Given the description of an element on the screen output the (x, y) to click on. 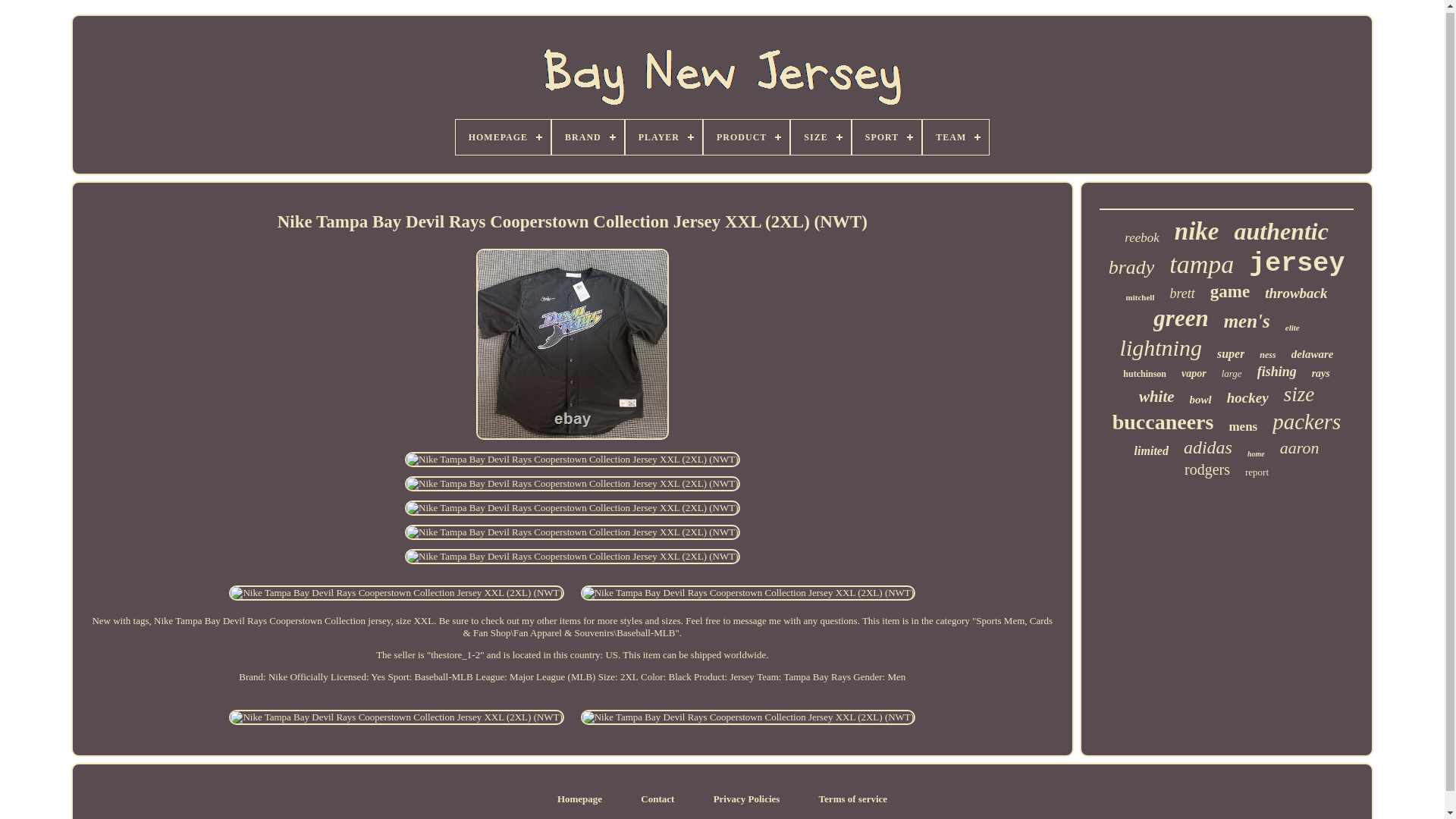
PLAYER (663, 136)
HOMEPAGE (502, 136)
BRAND (587, 136)
